Given the description of an element on the screen output the (x, y) to click on. 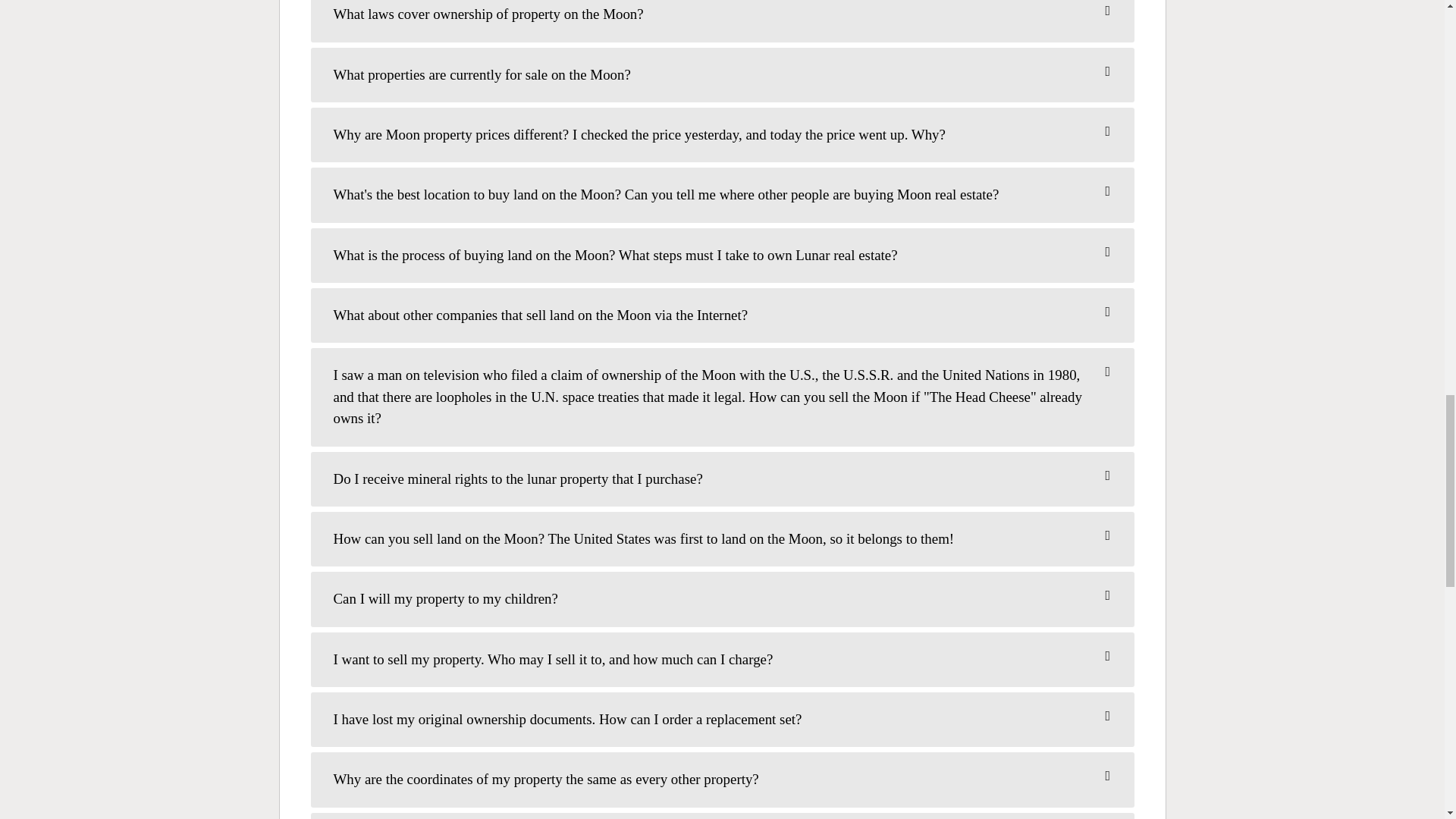
What properties are currently for sale on the Moon? (721, 75)
What laws cover ownership of property on the Moon? (721, 17)
